Given the description of an element on the screen output the (x, y) to click on. 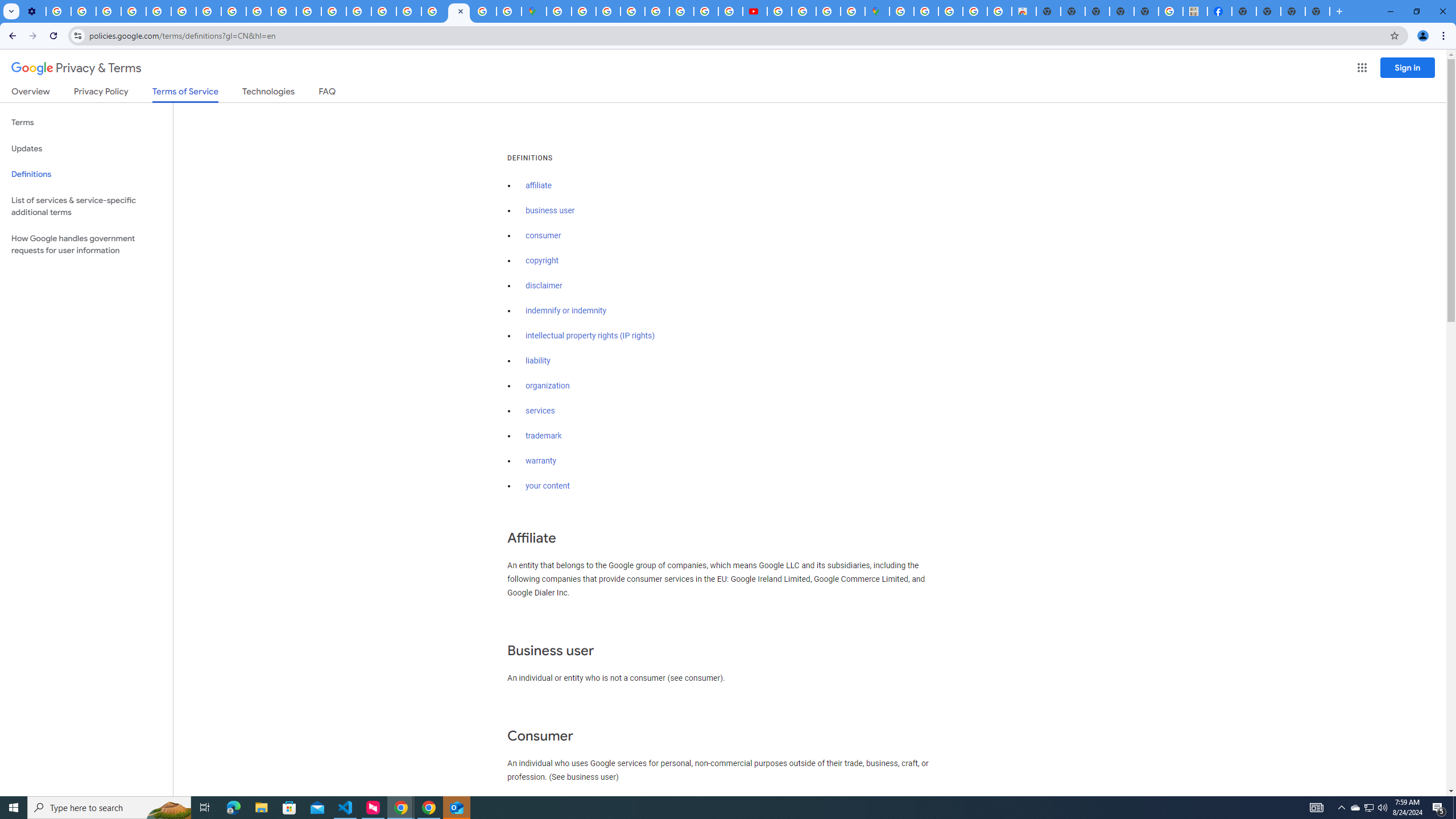
Sign in - Google Accounts (900, 11)
indemnify or indemnity (565, 311)
disclaimer (543, 285)
Privacy Help Center - Policies Help (158, 11)
New Tab (1317, 11)
